Given the description of an element on the screen output the (x, y) to click on. 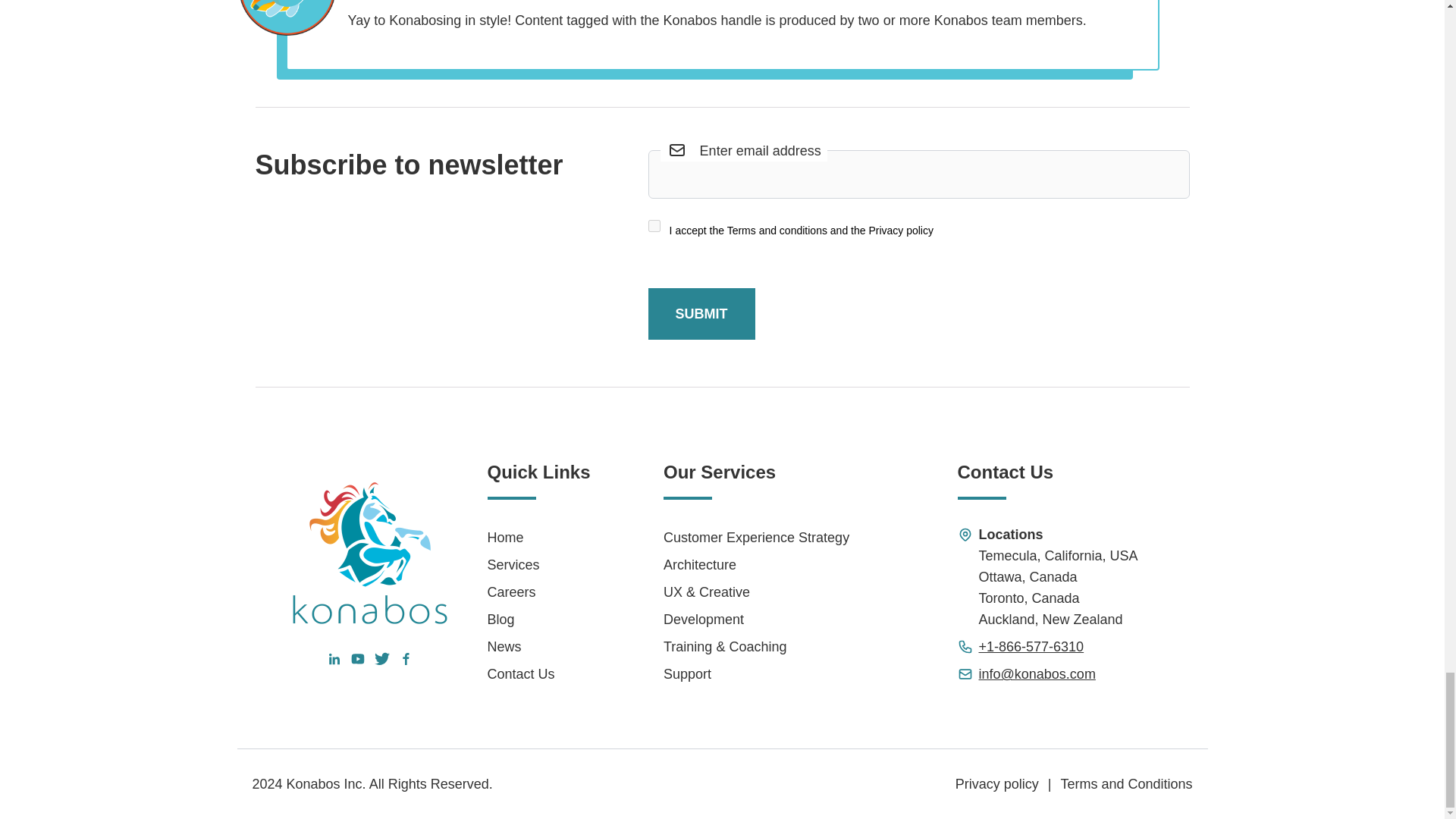
Home (545, 537)
SUBMIT (701, 313)
Blog (545, 619)
Careers (545, 591)
Konabos Logo (369, 552)
Services (545, 564)
